Given the description of an element on the screen output the (x, y) to click on. 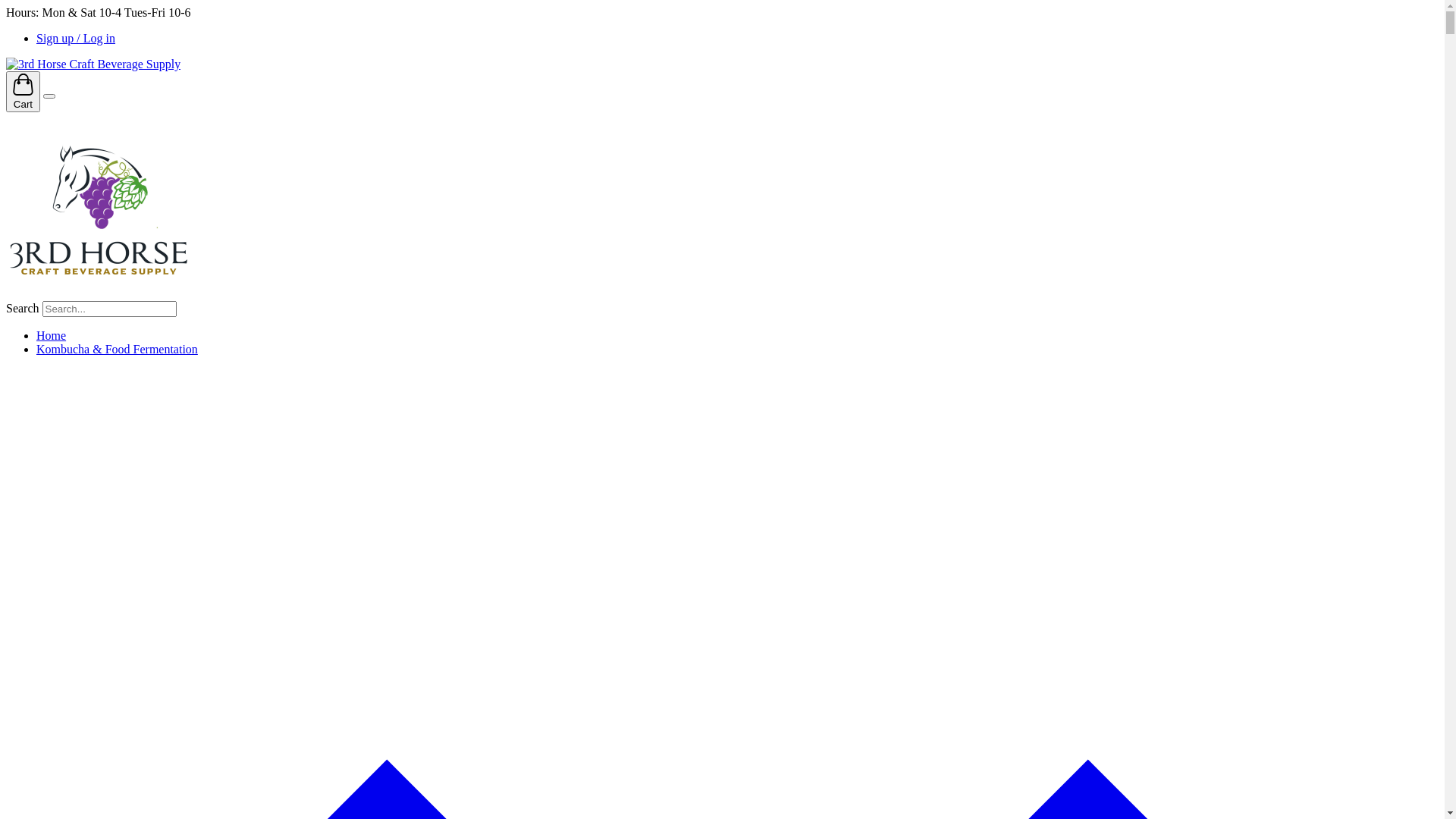
Sign up / Log in Element type: text (75, 37)
Toggle cart Cart Element type: text (23, 91)
3rd Horse Craft Beverage Supply Element type: hover (98, 293)
3rd Horse Craft Beverage Supply Element type: hover (93, 63)
Home Element type: text (50, 335)
